Given the description of an element on the screen output the (x, y) to click on. 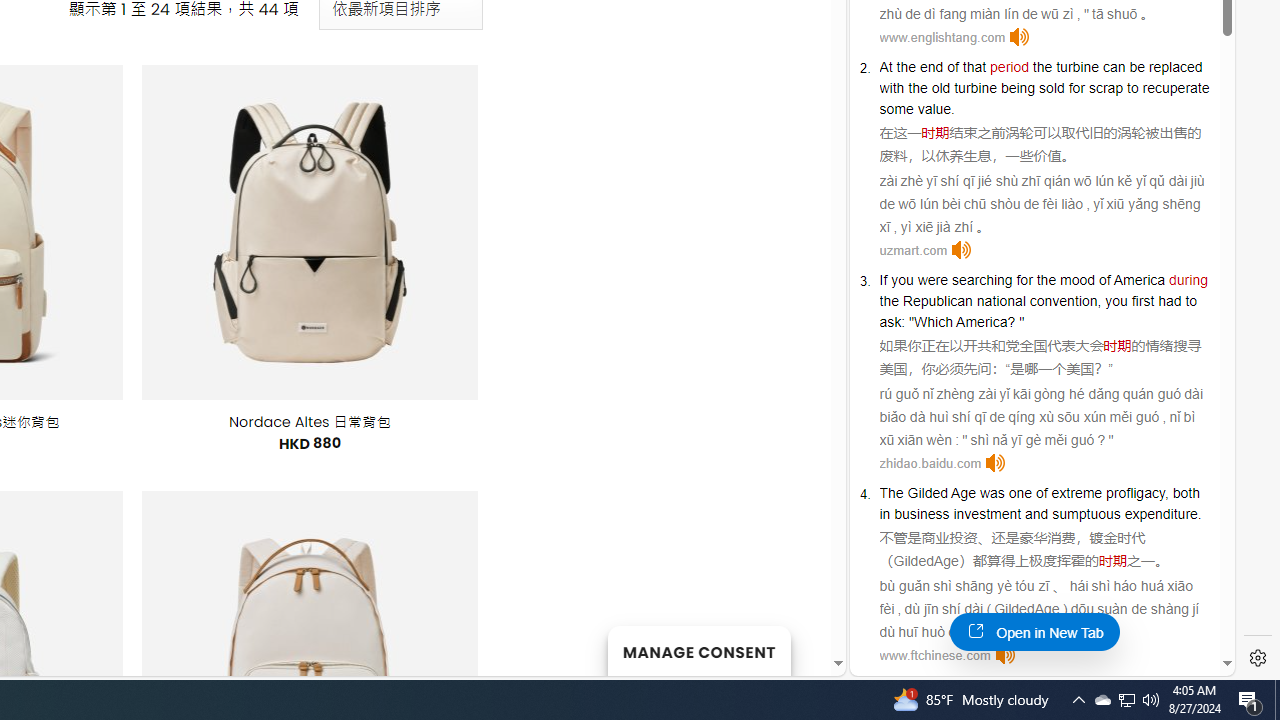
mood (1077, 280)
www.englishtang.com (942, 37)
. (1198, 514)
value (934, 108)
sumptuous (1086, 514)
At (886, 66)
recuperate (1175, 87)
were (932, 280)
